Given the description of an element on the screen output the (x, y) to click on. 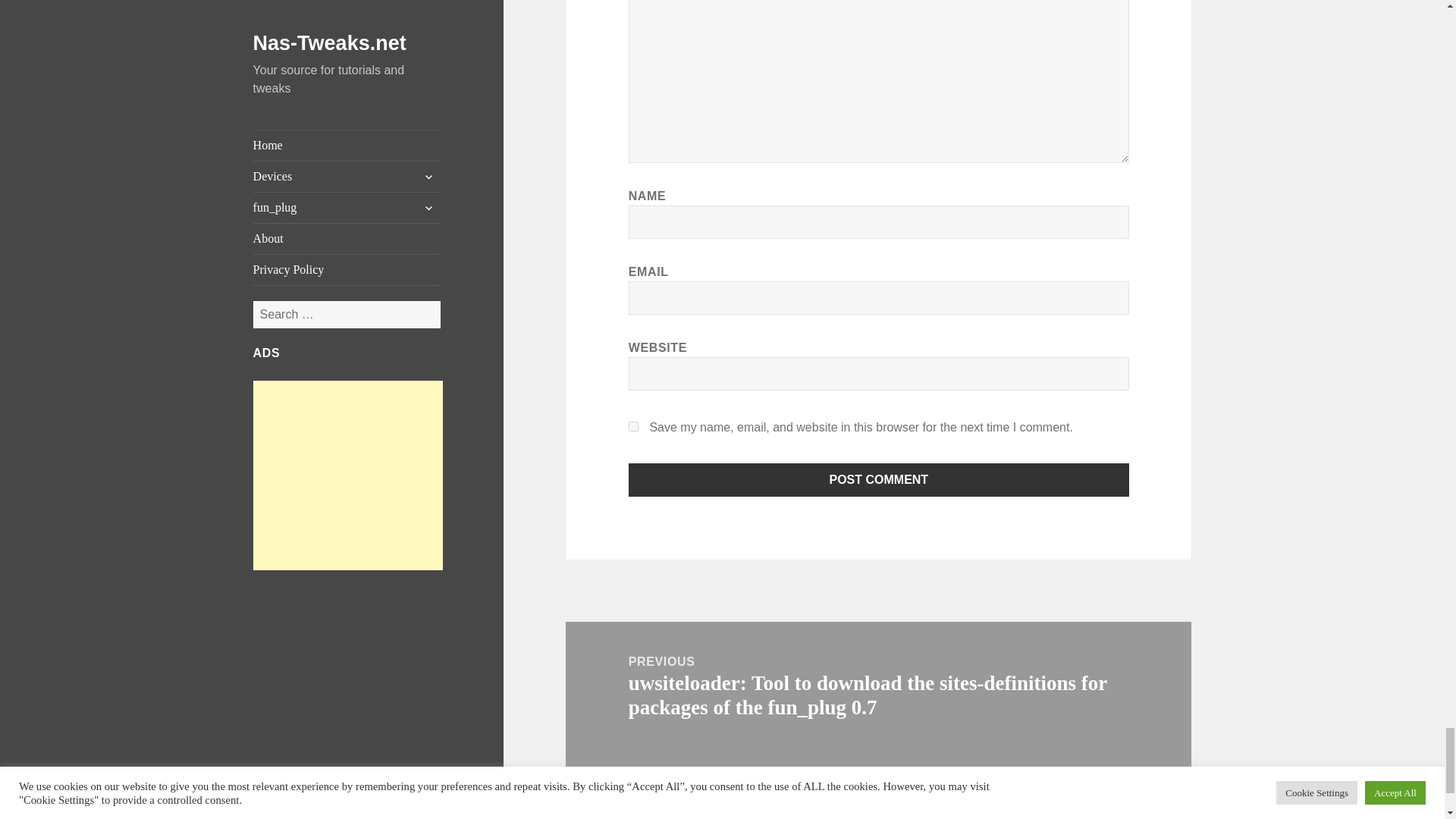
Post Comment (878, 479)
yes (633, 426)
